Given the description of an element on the screen output the (x, y) to click on. 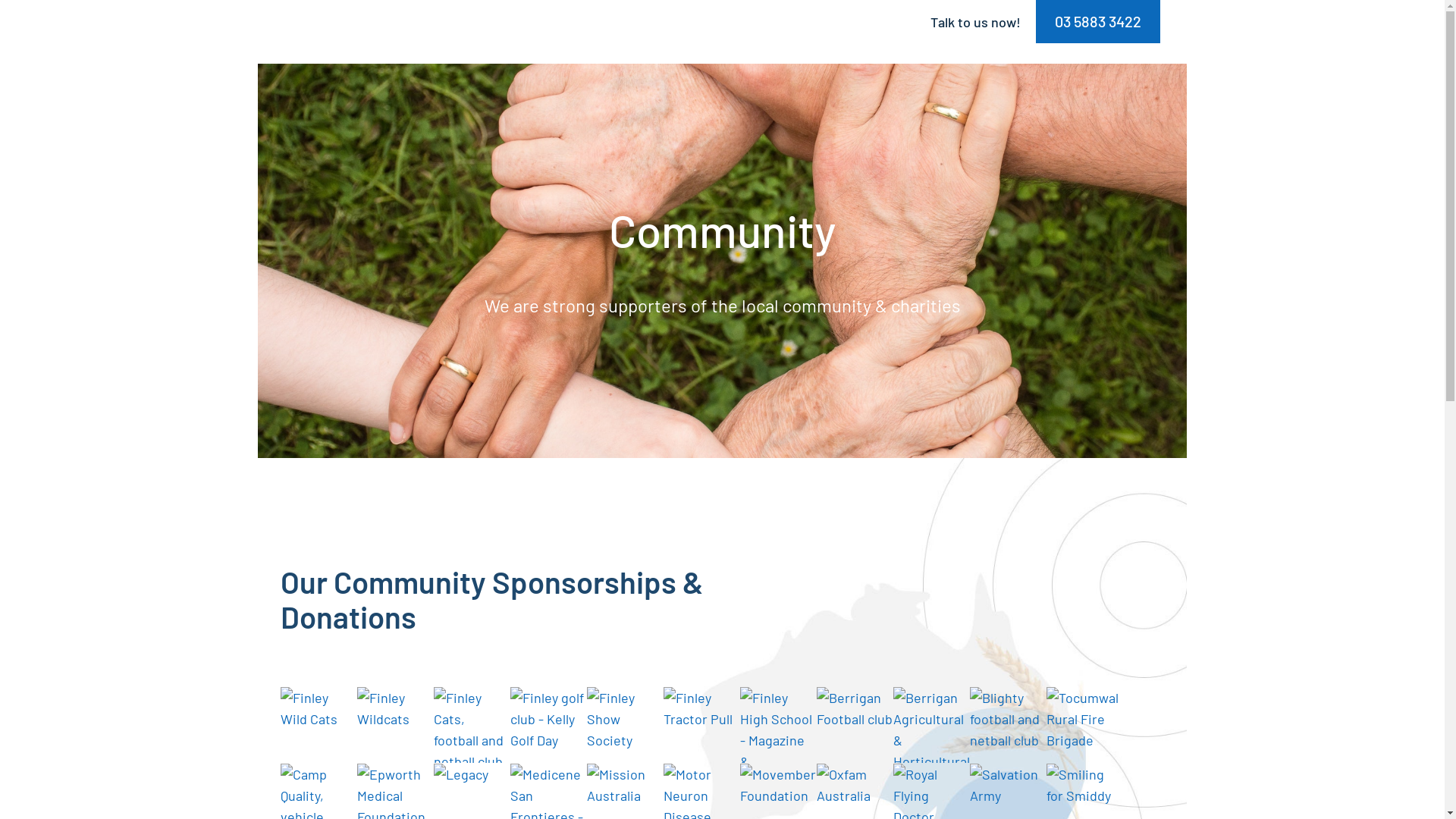
03 5883 3422 Element type: text (1097, 21)
tocumwal-fire-brigade Element type: hover (1084, 724)
tracktor-pull Element type: hover (701, 724)
finley-highschool Element type: hover (777, 724)
wildcats2 Element type: hover (395, 724)
berrigian-football Element type: hover (854, 724)
golf-club Element type: hover (548, 724)
Blighty-football Element type: hover (1007, 724)
berrigian Element type: hover (931, 724)
cats-finley Element type: hover (471, 724)
finley-show Element type: hover (624, 724)
